Given the description of an element on the screen output the (x, y) to click on. 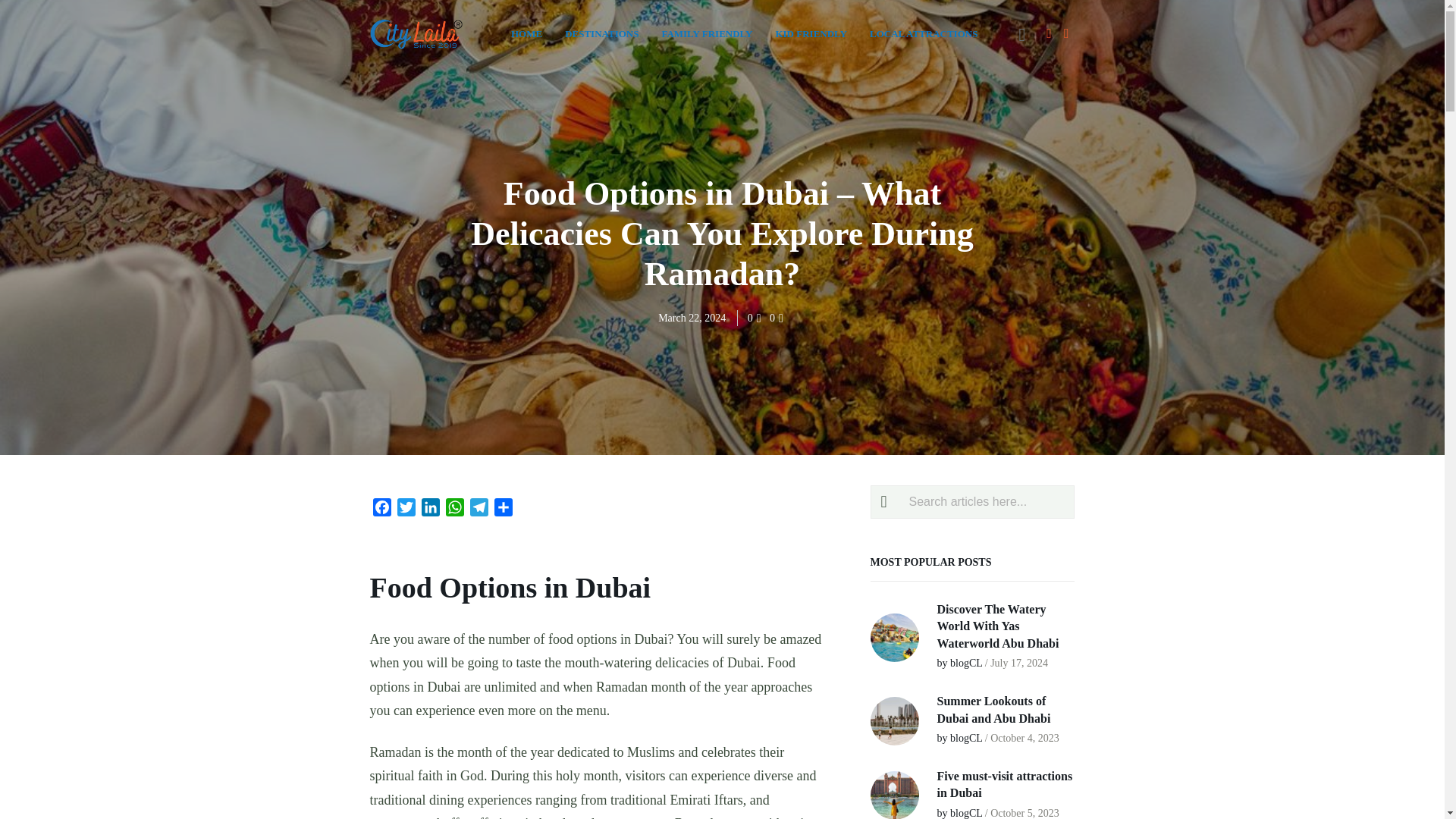
FAMILY FRIENDLY (706, 33)
WhatsApp (454, 509)
Twitter (406, 509)
DESTINATIONS (601, 33)
Telegram (479, 509)
LinkedIn (430, 509)
HOME (526, 33)
LOCAL ATTRACTIONS (923, 33)
Facebook (381, 509)
March 22, 2024 (691, 317)
